Given the description of an element on the screen output the (x, y) to click on. 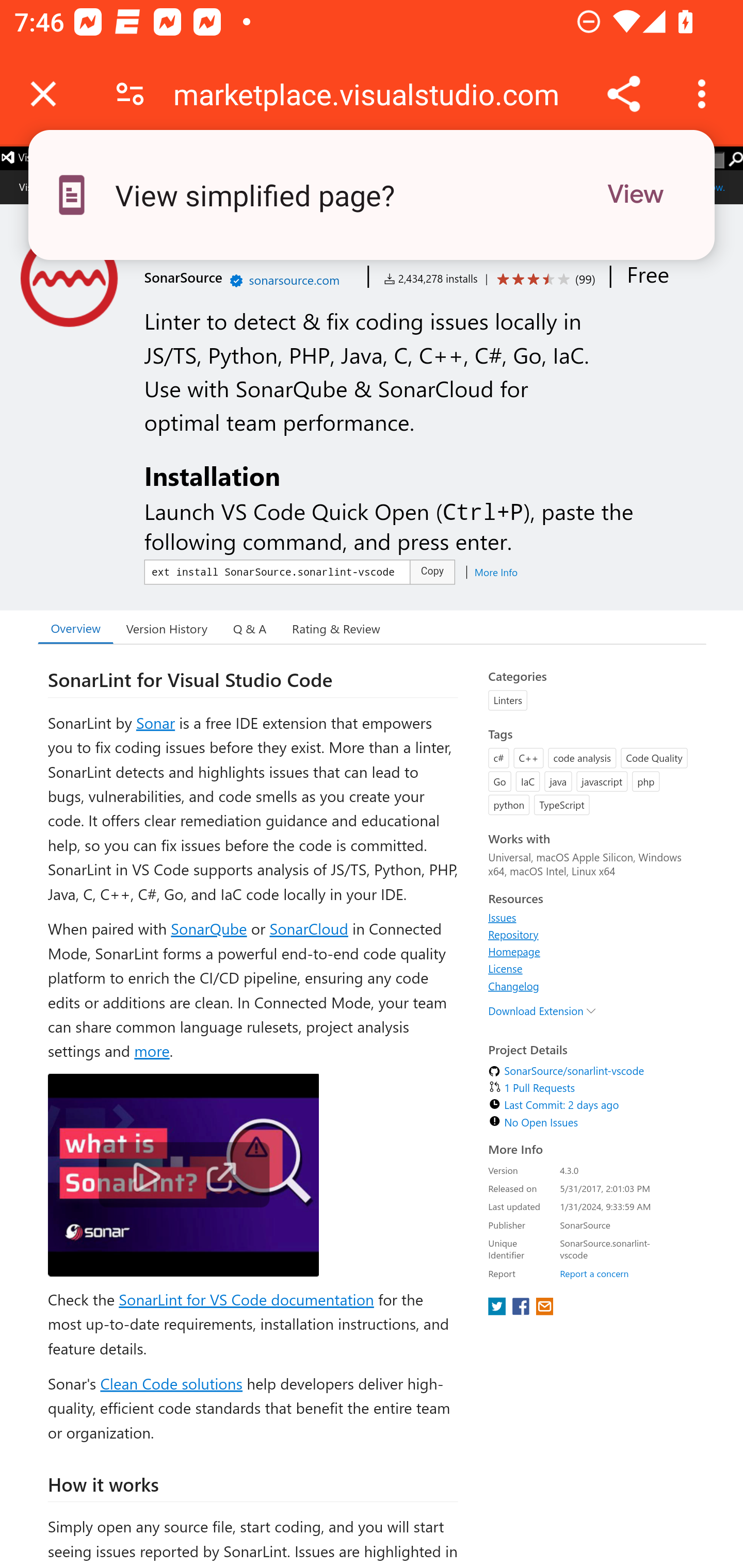
Close tab (43, 93)
Share (623, 93)
Customize and control Google Chrome (705, 93)
Connection is secure (129, 93)
marketplace.visualstudio.com (373, 93)
More from SonarSource publisher SonarSource (183, 276)
sonarsource.com (294, 279)
ext install SonarSource.sonarlint-vscode (277, 571)
Copy (431, 571)
More Info (491, 571)
Overview (75, 628)
Version History (166, 628)
Q & A (249, 628)
Rating & Review (335, 628)
Sonar (154, 721)
Issues (501, 916)
SonarQube (208, 928)
SonarCloud (308, 928)
Repository (512, 934)
Homepage (513, 950)
License (504, 968)
Changelog (513, 985)
Download Extension (542, 1010)
more (150, 1050)
What is SonarLint video (182, 1176)
 1 Pull Requests  1 Pull Requests (530, 1087)
 No Open Issues  No Open Issues (531, 1121)
Report a concern (594, 1272)
SonarLint for VS Code documentation (245, 1299)
share extension on twitter (498, 1307)
share extension on facebook (521, 1307)
share extension on email (544, 1307)
Clean Code solutions (171, 1382)
